Given the description of an element on the screen output the (x, y) to click on. 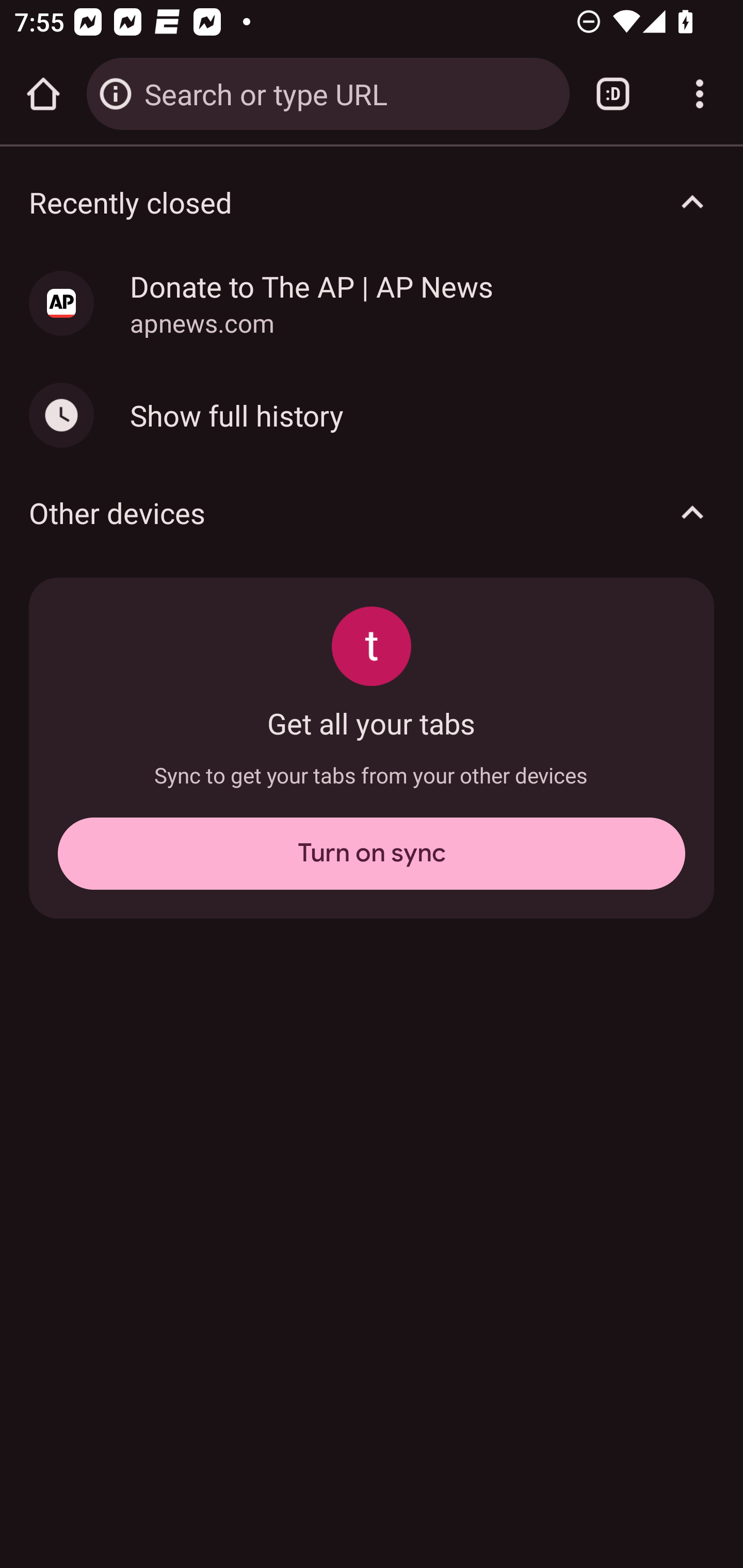
Open the home page (43, 93)
Your connection to this site is not secure (115, 93)
Switch or close tabs (612, 93)
Customize and control Google Chrome (699, 93)
Search or type URL (349, 92)
Recently closed Tap to collapse (371, 202)
Donate to The AP | AP News apnews.com (371, 303)
Show full history (371, 414)
Other devices Tap to collapse (371, 512)
Turn on sync (371, 853)
